Given the description of an element on the screen output the (x, y) to click on. 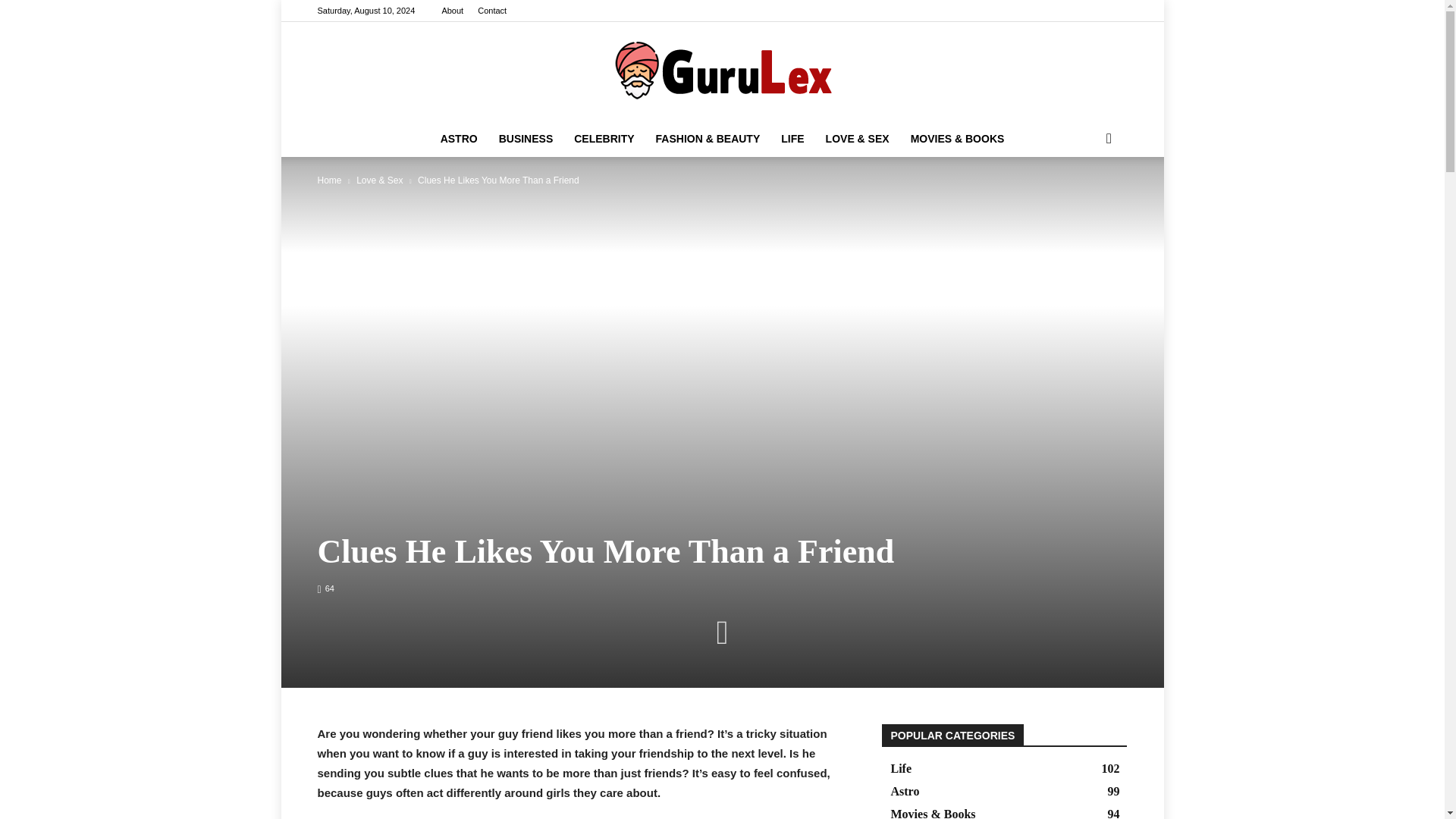
About (452, 10)
Contact (491, 10)
ASTRO (458, 138)
Guru Lex (722, 71)
BUSINESS (525, 138)
